Given the description of an element on the screen output the (x, y) to click on. 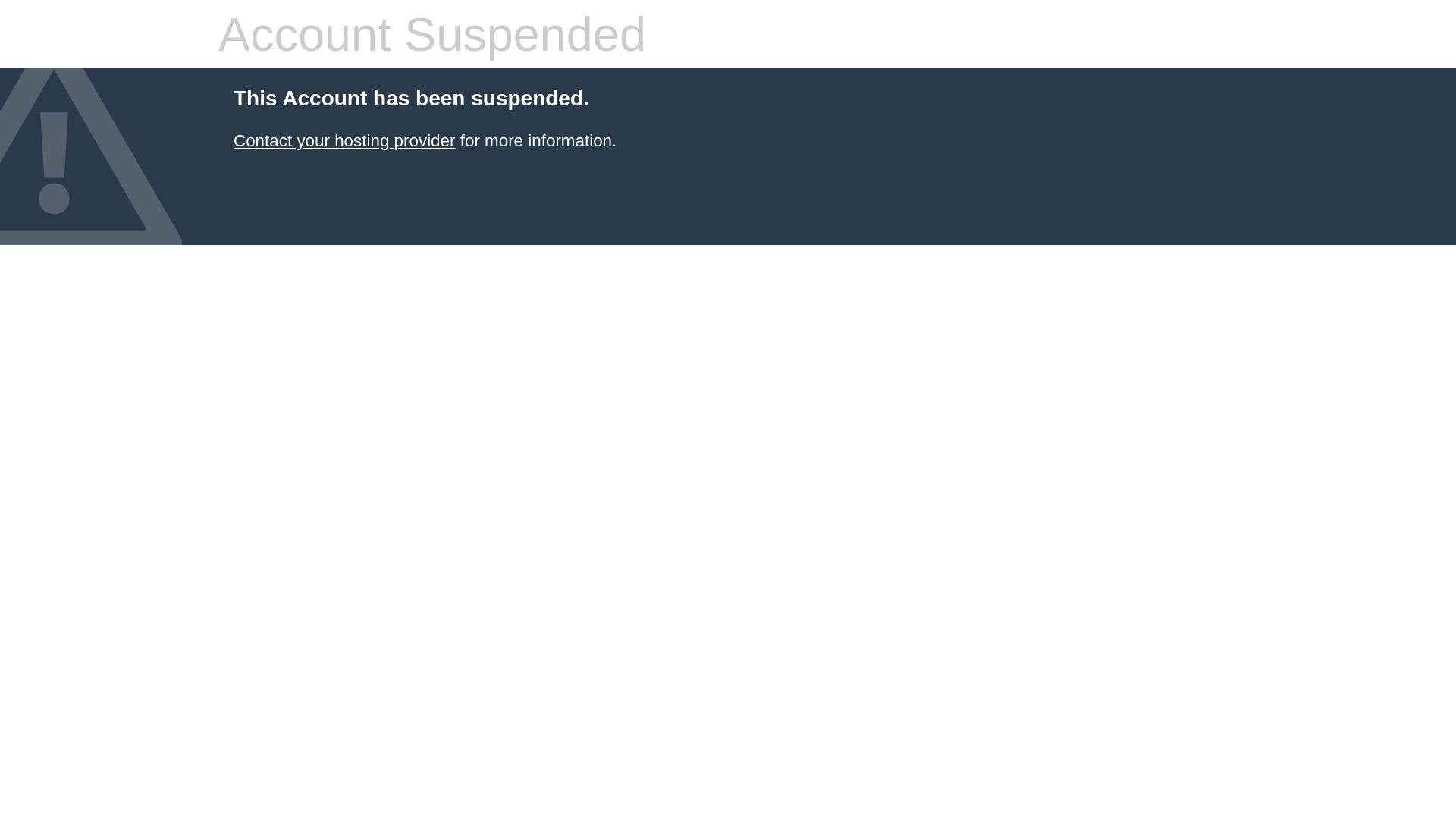
Contact your hosting provider Element type: text (344, 140)
